Given the description of an element on the screen output the (x, y) to click on. 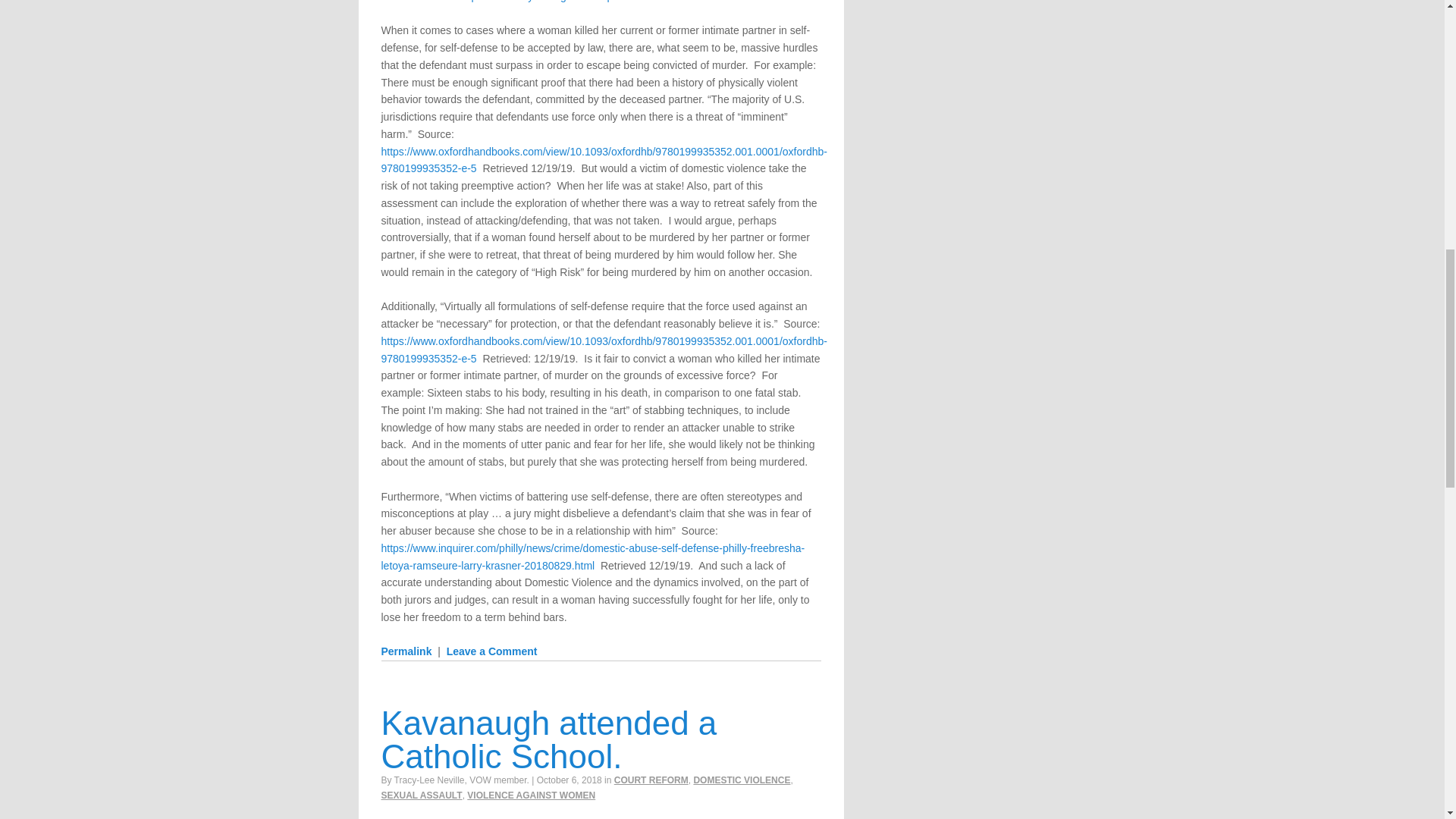
Permalink to Was it Overkill? (405, 651)
Leave a Comment (491, 651)
Permalink to Kavanaugh attended a Catholic School. (548, 739)
Permalink (405, 651)
